Given the description of an element on the screen output the (x, y) to click on. 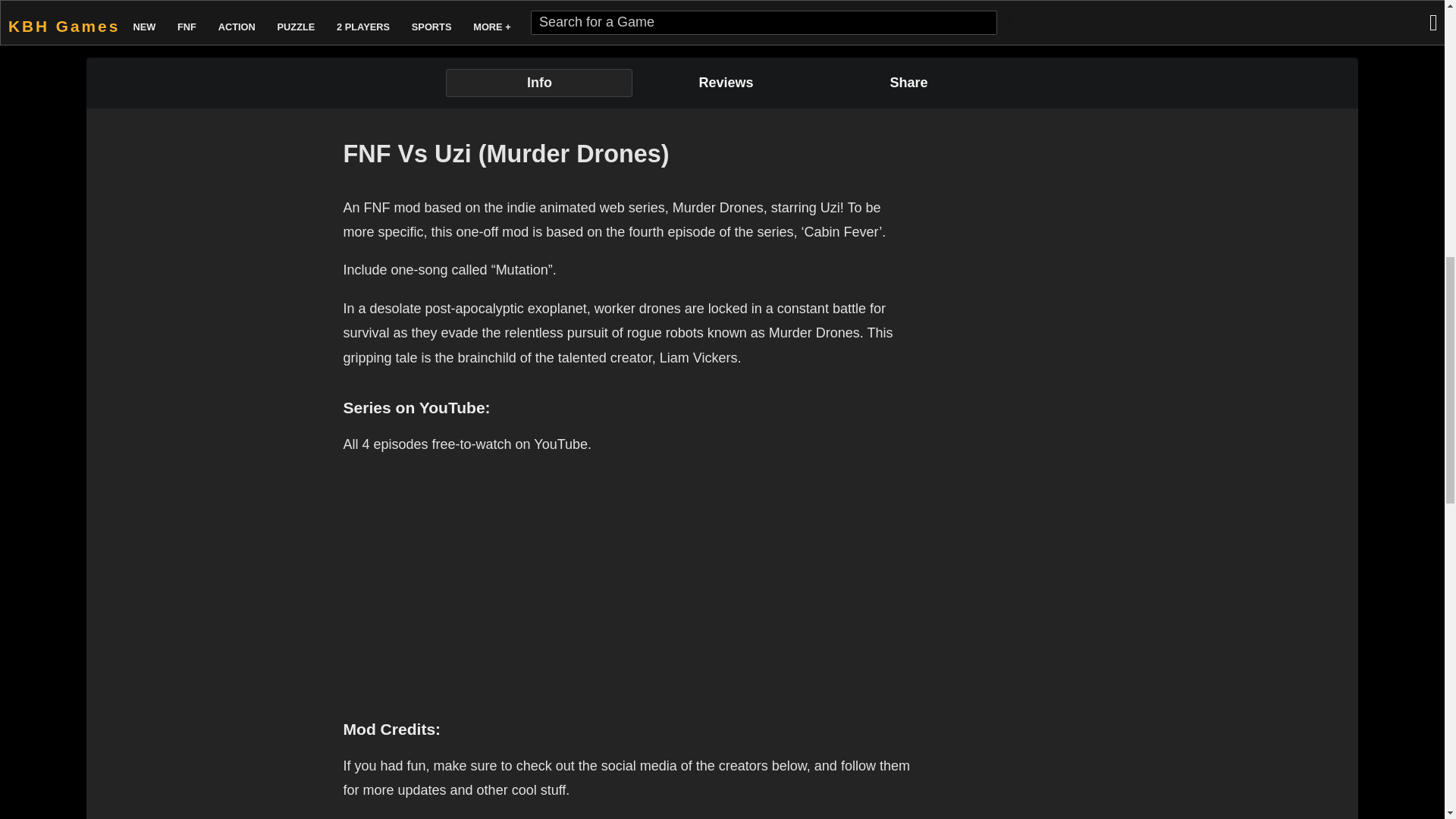
Murder Mafia (357, 11)
Friday Night Funkin' Disney Club (1192, 7)
Friday Night Funkin' (191, 7)
FNF Left Unlocked, but Everyone Sings It (1359, 7)
FNF Vs Void Polarity But Everyone Sings It (692, 7)
FNF VS Plant's Night Funkin Replanted (525, 7)
Scary Murder at the Craft School 3D (858, 7)
Friday Night Funkin' (191, 11)
Friday Night Funkin' VS Illegal Instruction (1026, 7)
Murder Mafia (357, 7)
